Given the description of an element on the screen output the (x, y) to click on. 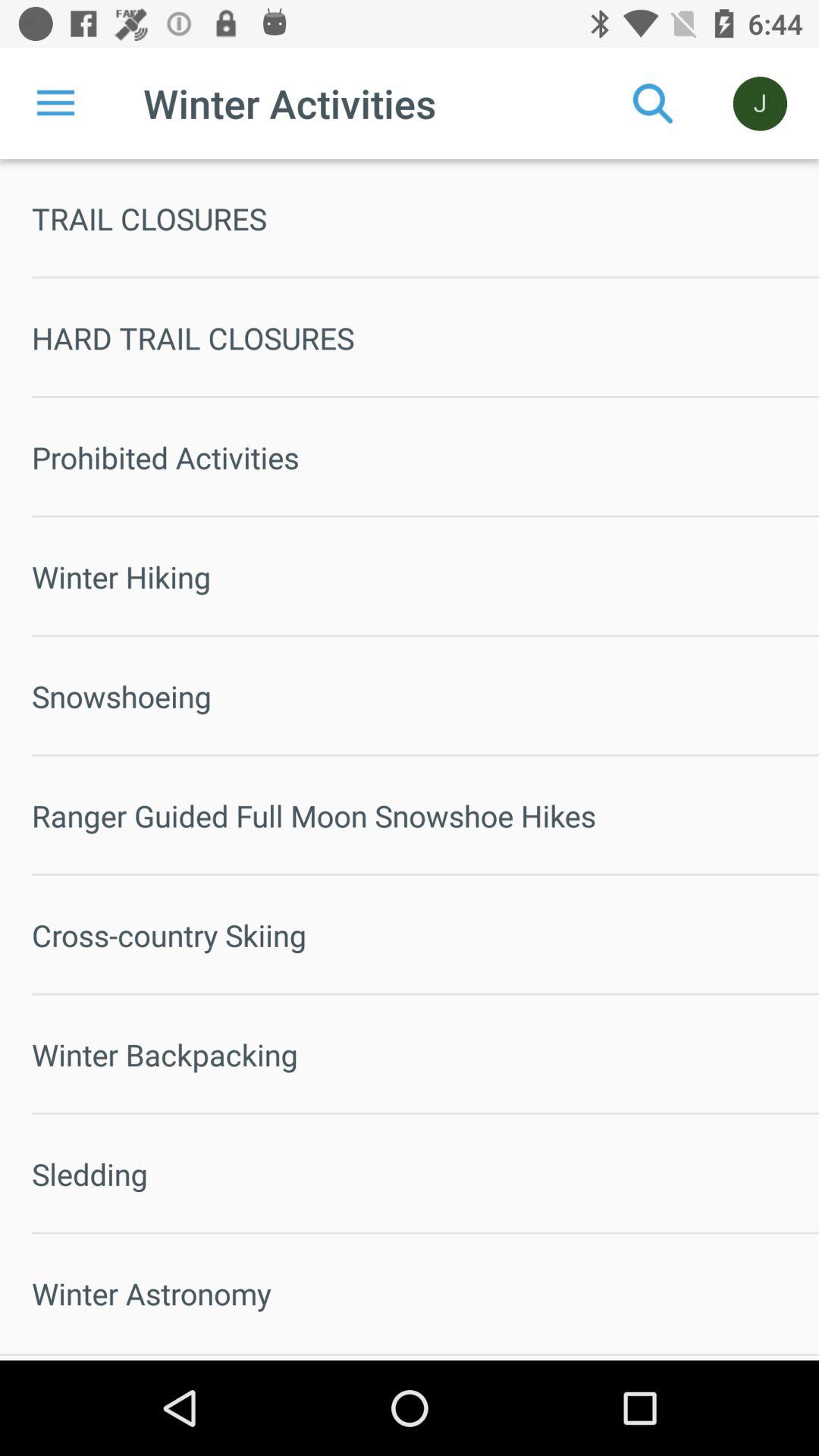
tap icon above trail closures icon (653, 103)
